Given the description of an element on the screen output the (x, y) to click on. 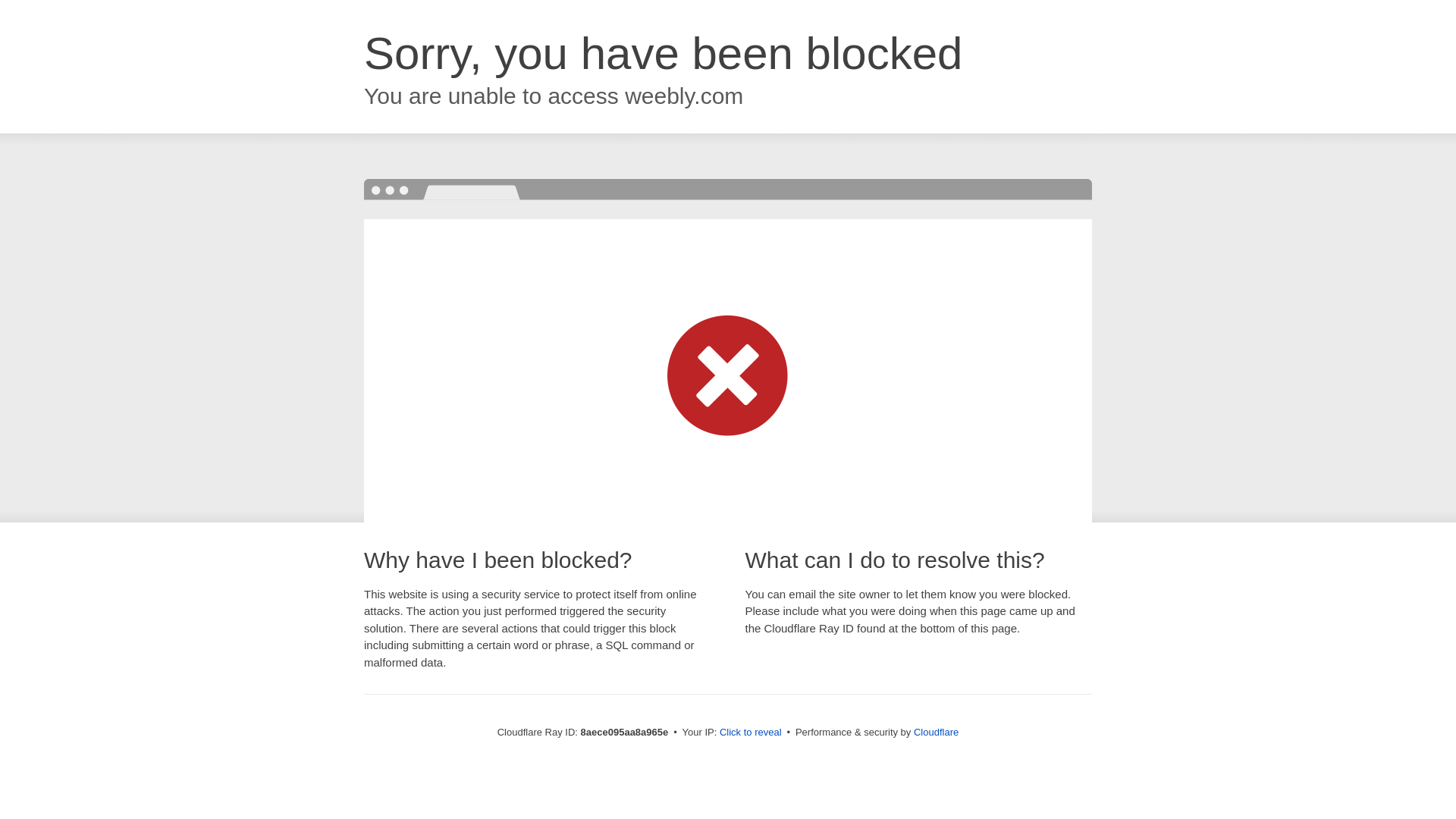
Cloudflare (936, 731)
Click to reveal (750, 732)
